Given the description of an element on the screen output the (x, y) to click on. 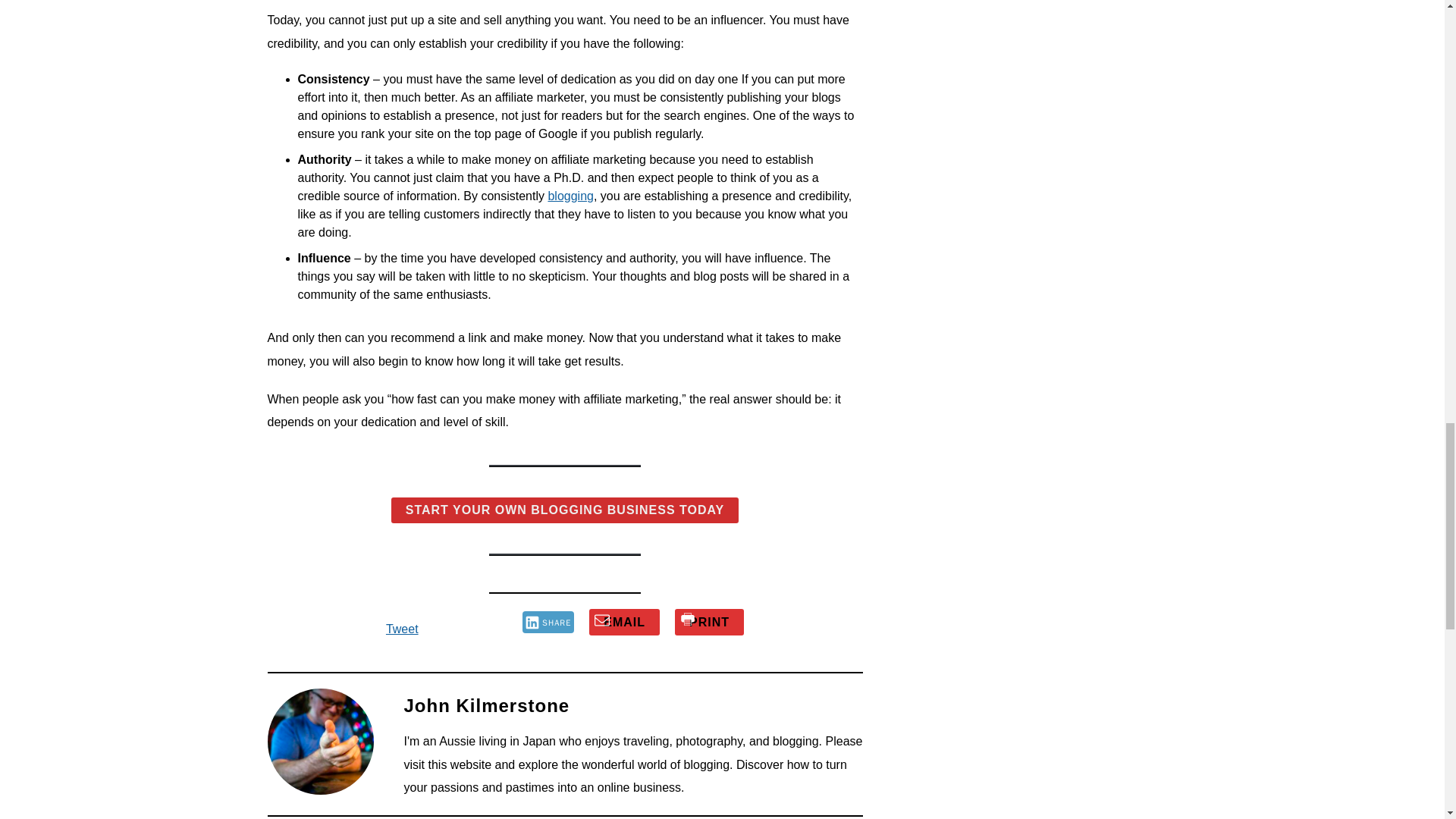
PRINT (709, 622)
EMAIL (624, 622)
blogging (570, 195)
John Kilmerstone (486, 705)
START YOUR OWN BLOGGING BUSINESS TODAY (565, 510)
blogging (570, 195)
Tweet (402, 628)
SHARE (548, 621)
